Given the description of an element on the screen output the (x, y) to click on. 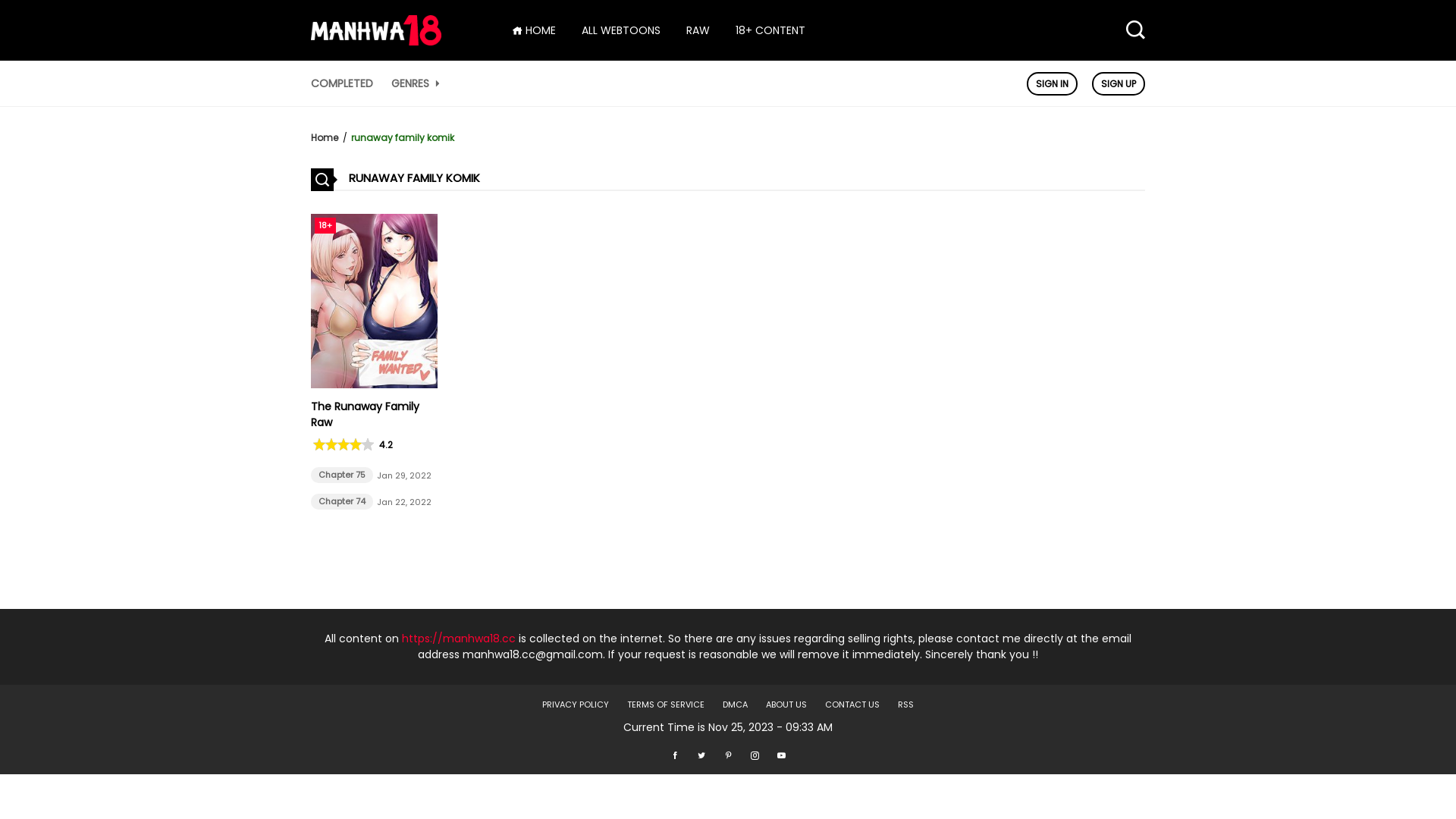
https://manhwa18.cc Element type: text (458, 638)
GENRES Element type: text (416, 83)
runaway family komik Element type: text (402, 137)
SIGN IN Element type: text (1051, 83)
18+ Element type: text (373, 384)
SIGN UP Element type: text (1118, 83)
Read Webtoons and Korean Manhwa in English for Free Element type: hover (375, 41)
PRIVACY POLICY Element type: text (575, 704)
ALL WEBTOONS Element type: text (620, 29)
COMPLETED Element type: text (341, 83)
Chapter 74 Element type: text (341, 501)
18+ CONTENT Element type: text (770, 29)
Home Element type: text (324, 137)
RSS Element type: text (905, 704)
ABOUT US Element type: text (785, 704)
TERMS OF SERVICE Element type: text (665, 704)
CONTACT US Element type: text (852, 704)
RAW Element type: text (697, 29)
The Runaway Family Raw Element type: text (364, 413)
DMCA Element type: text (734, 704)
Chapter 75 Element type: text (341, 475)
HOME Element type: text (533, 29)
